Given the description of an element on the screen output the (x, y) to click on. 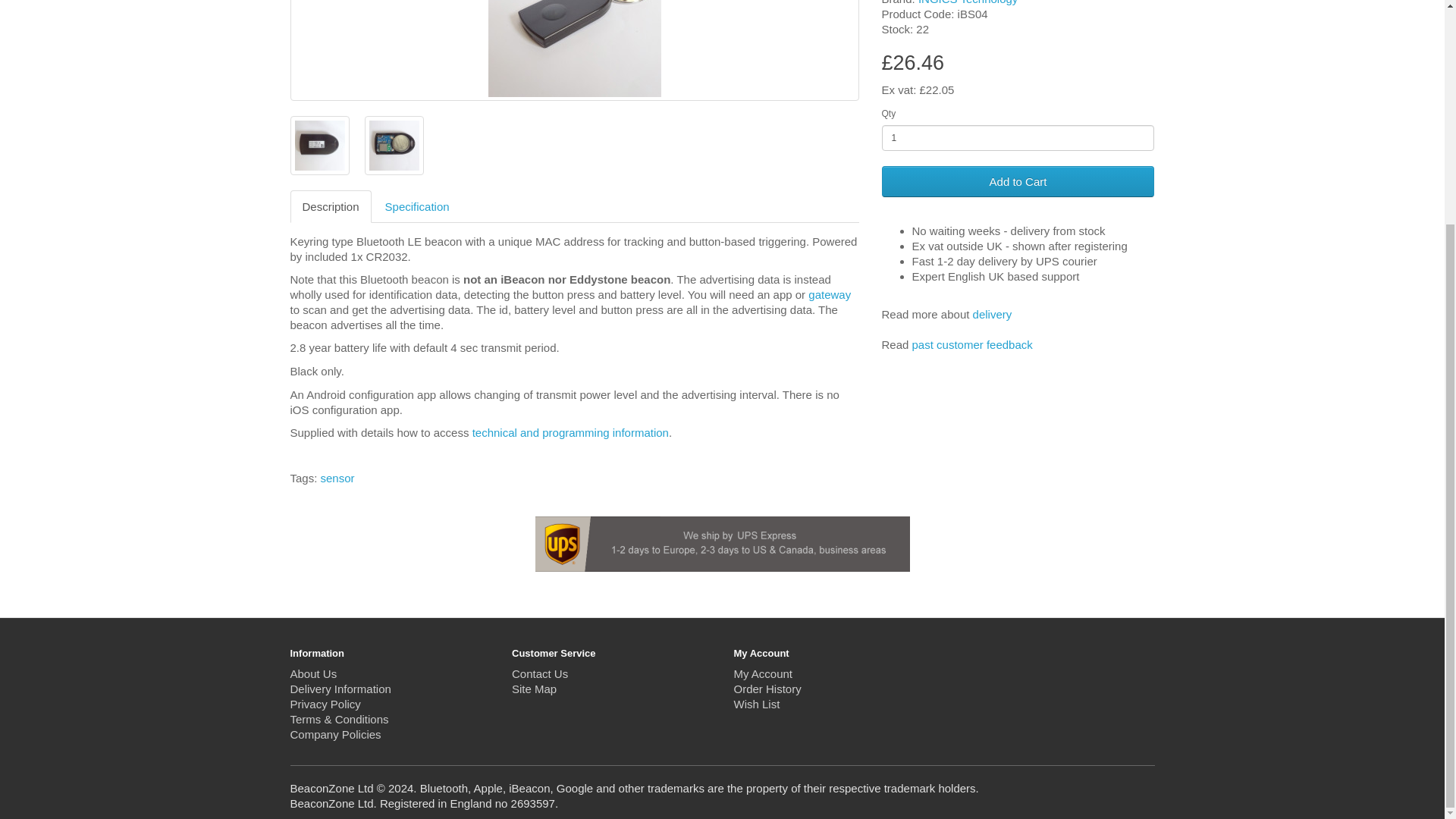
iBS04 (319, 145)
iBS04 (393, 145)
iBS04 (574, 50)
iBS04 (574, 48)
1 (1017, 137)
iBS04 (318, 145)
iBS04 (393, 145)
